Given the description of an element on the screen output the (x, y) to click on. 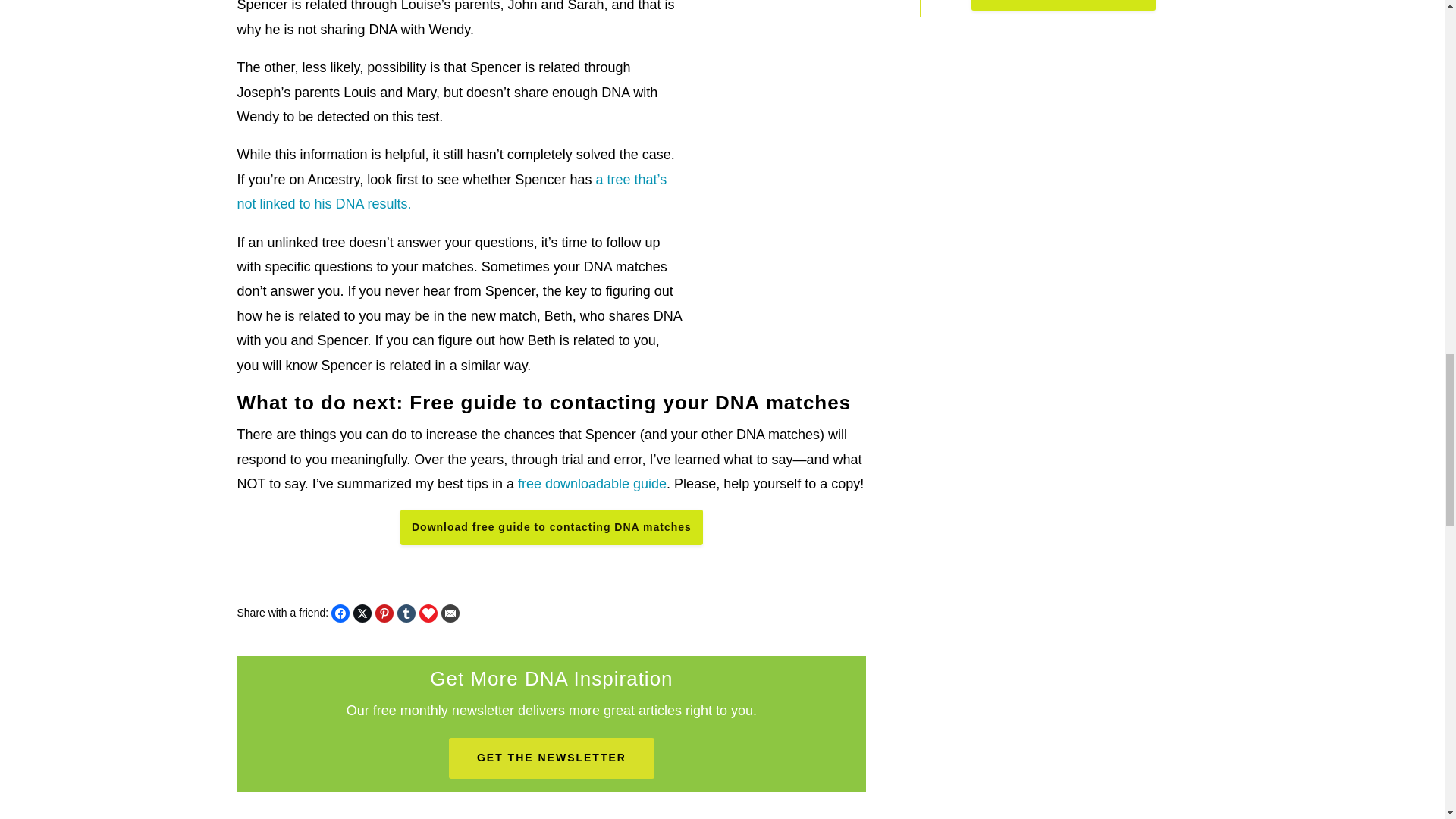
Share on Love This (428, 613)
Download free guide to contacting DNA matches (551, 526)
GET THE NEWSLETTER (550, 757)
Share on Facebook (340, 613)
Share on Twitter (362, 613)
Share on Pinterest (384, 613)
Share on Tumblr (405, 613)
free downloadable guide (592, 483)
